Given the description of an element on the screen output the (x, y) to click on. 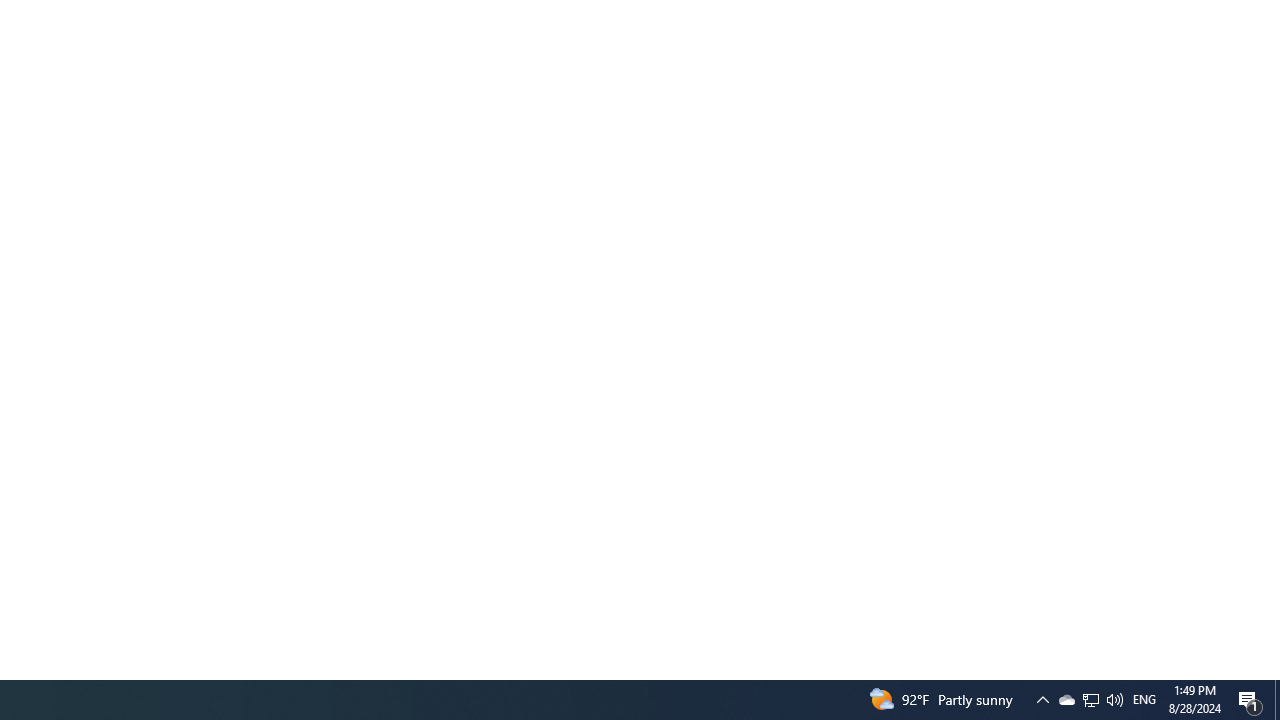
Microsoft account (273, 224)
